Given the description of an element on the screen output the (x, y) to click on. 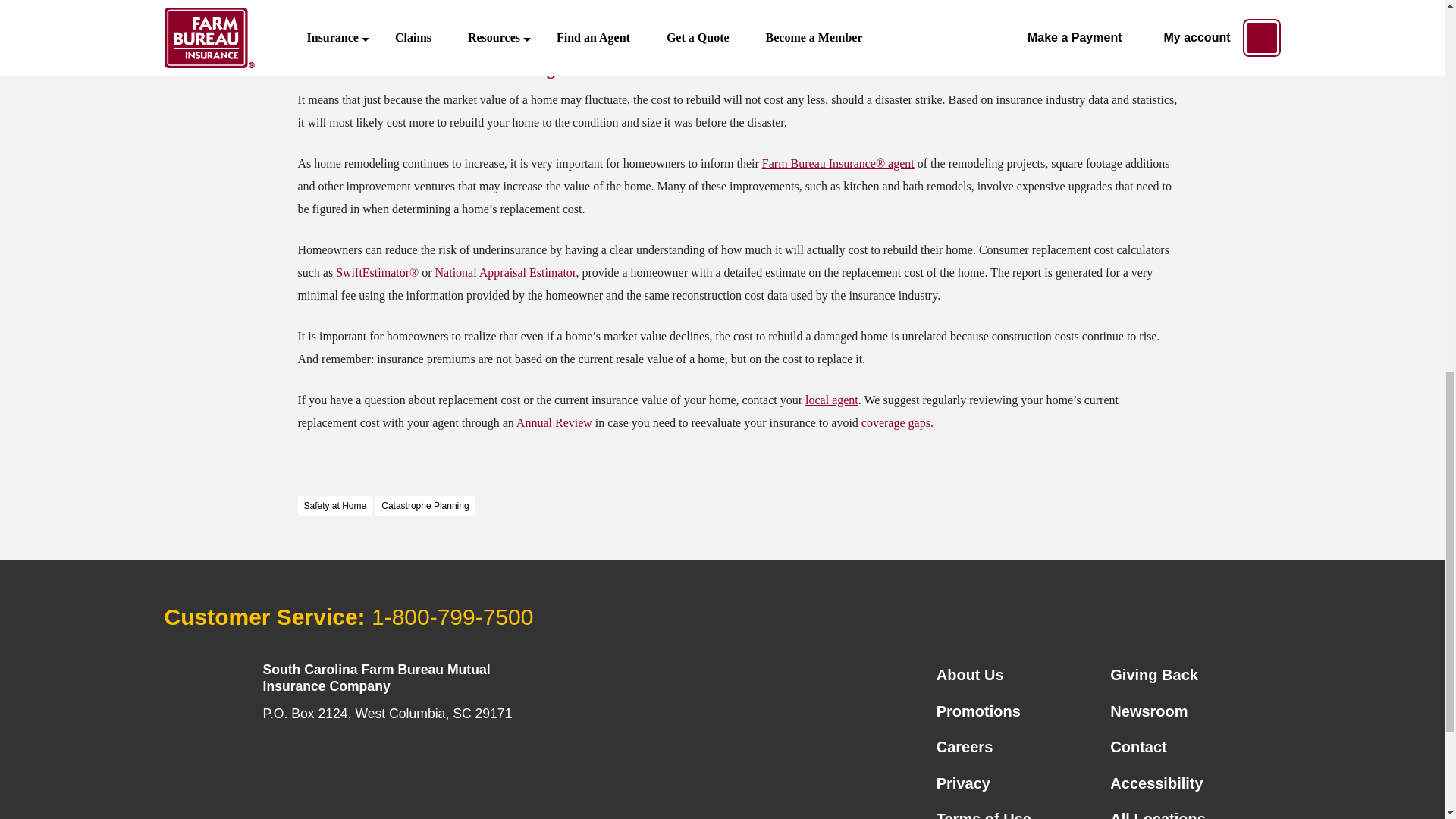
Annual Review (554, 422)
Find agent (832, 399)
find agent (837, 163)
Swift Estimator (377, 272)
coverage gaps (895, 422)
National Appraisal Estimator (505, 272)
